Given the description of an element on the screen output the (x, y) to click on. 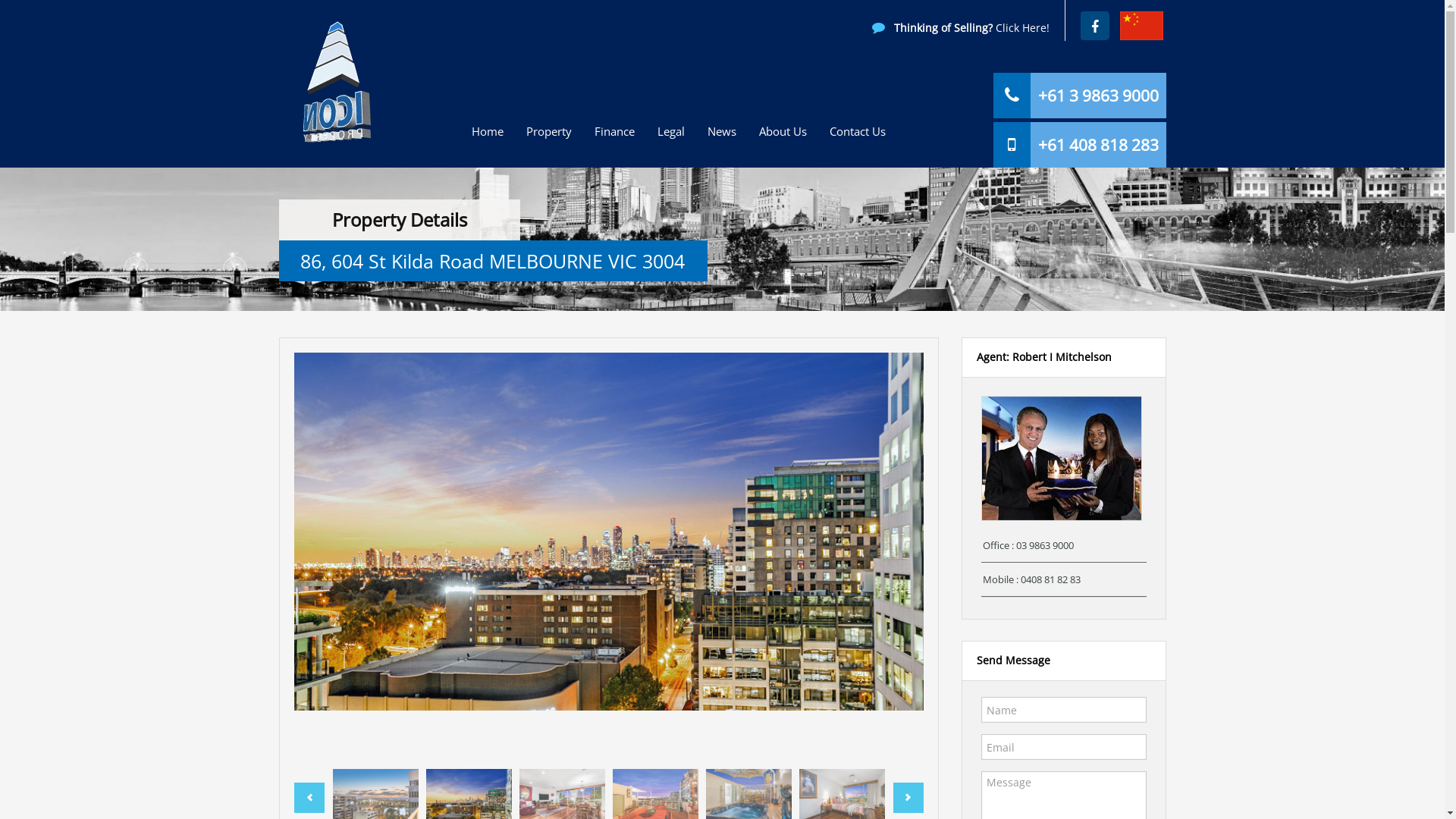
* Please provide your name Element type: hover (1064, 709)
Finance Element type: text (614, 131)
Legal Element type: text (670, 131)
Icon Property Element type: hover (334, 82)
Home Element type: text (487, 131)
Contact Us Element type: text (857, 131)
Property Element type: text (548, 131)
* Please provide valid email address Element type: hover (1064, 746)
Thinking of Selling? Click Here! Element type: text (960, 27)
News Element type: text (720, 131)
About Us Element type: text (782, 131)
Previous Element type: text (309, 797)
Next Element type: text (908, 797)
